Given the description of an element on the screen output the (x, y) to click on. 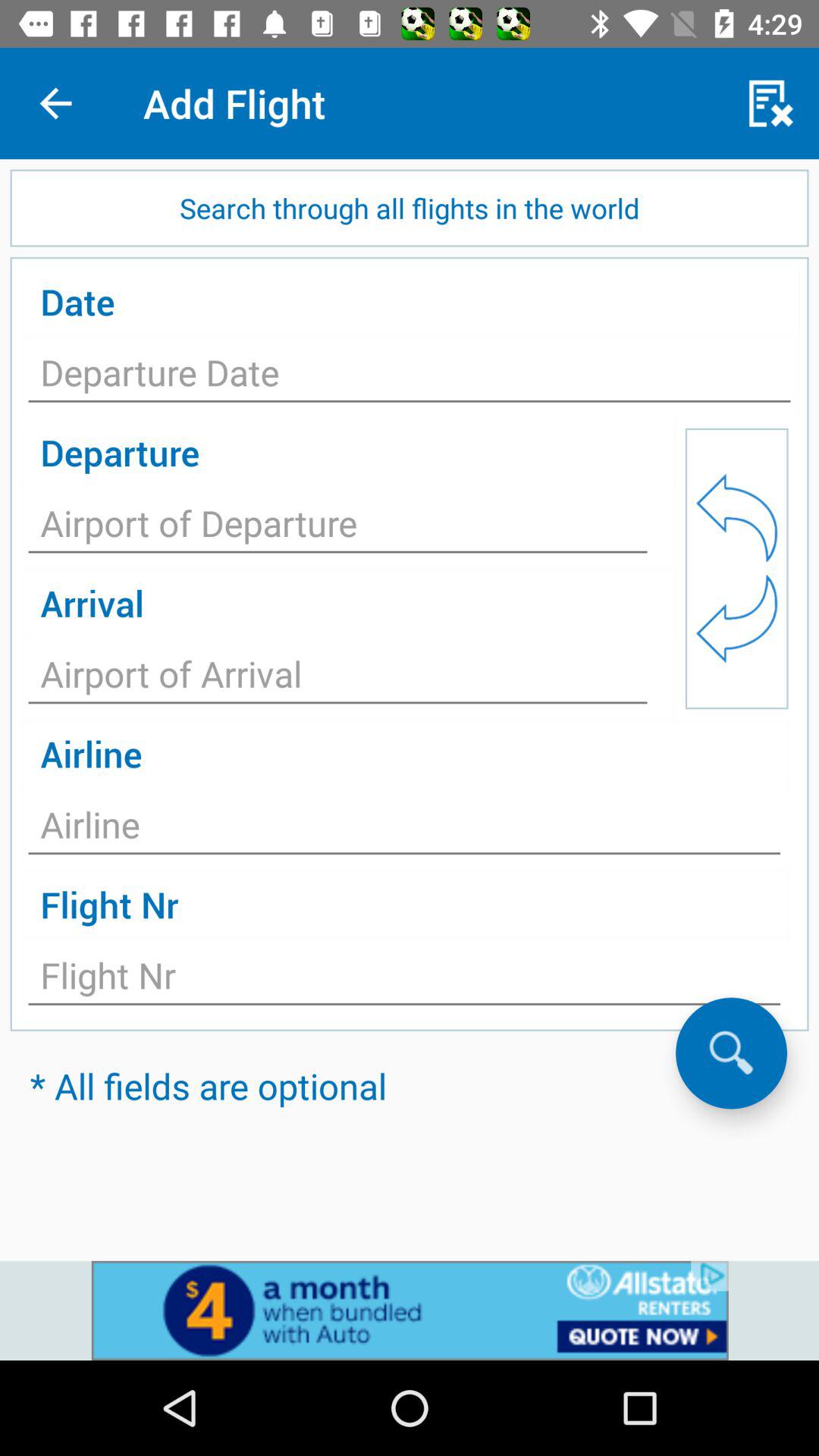
advateshment (409, 1310)
